Given the description of an element on the screen output the (x, y) to click on. 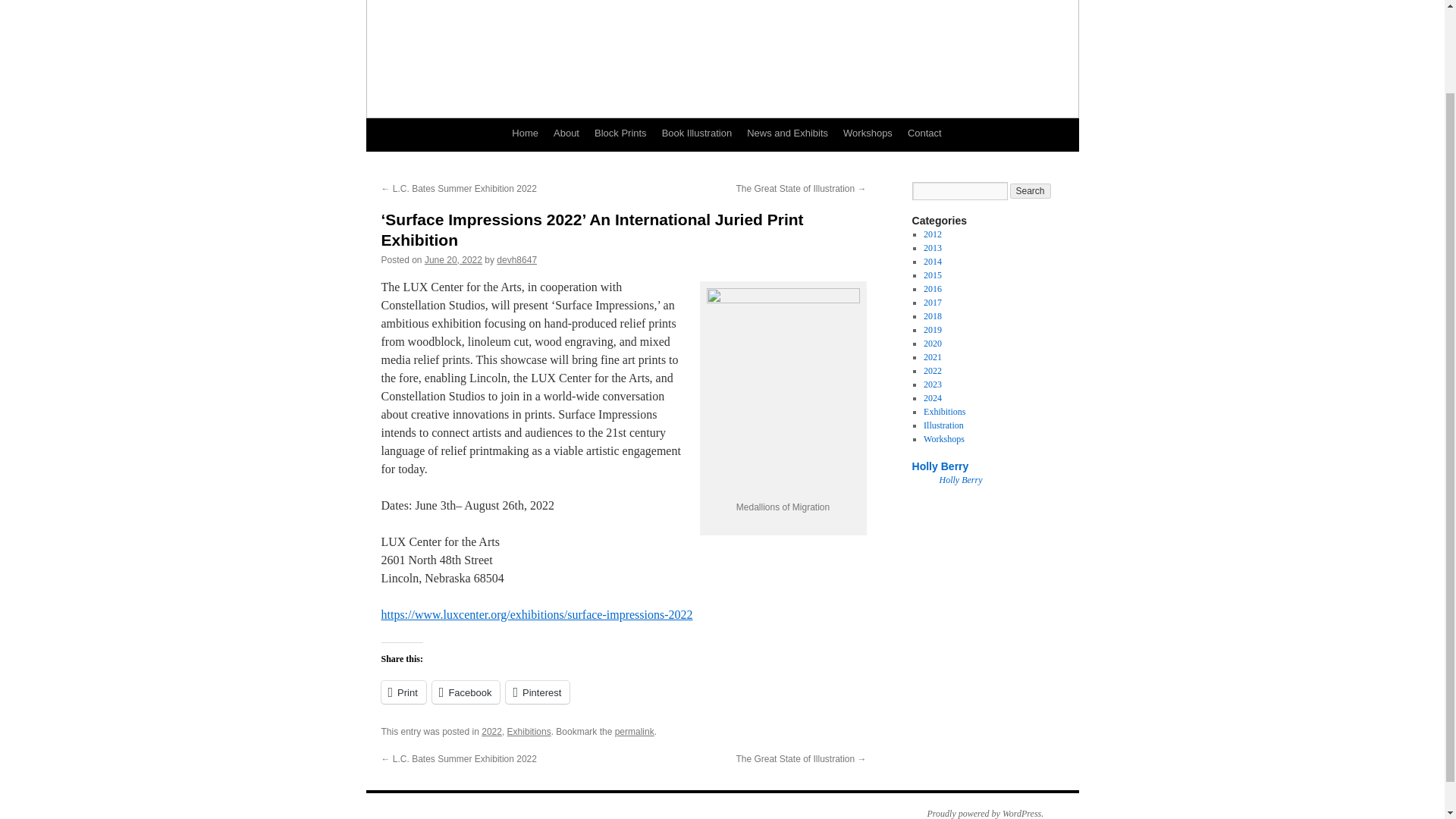
Contact (924, 133)
Workshops (867, 133)
Book Illustration (696, 133)
devh8647 (516, 259)
Search (1030, 191)
2024 (932, 398)
Block Prints (619, 133)
About (566, 133)
Print (402, 691)
Pinterest (537, 691)
